Given the description of an element on the screen output the (x, y) to click on. 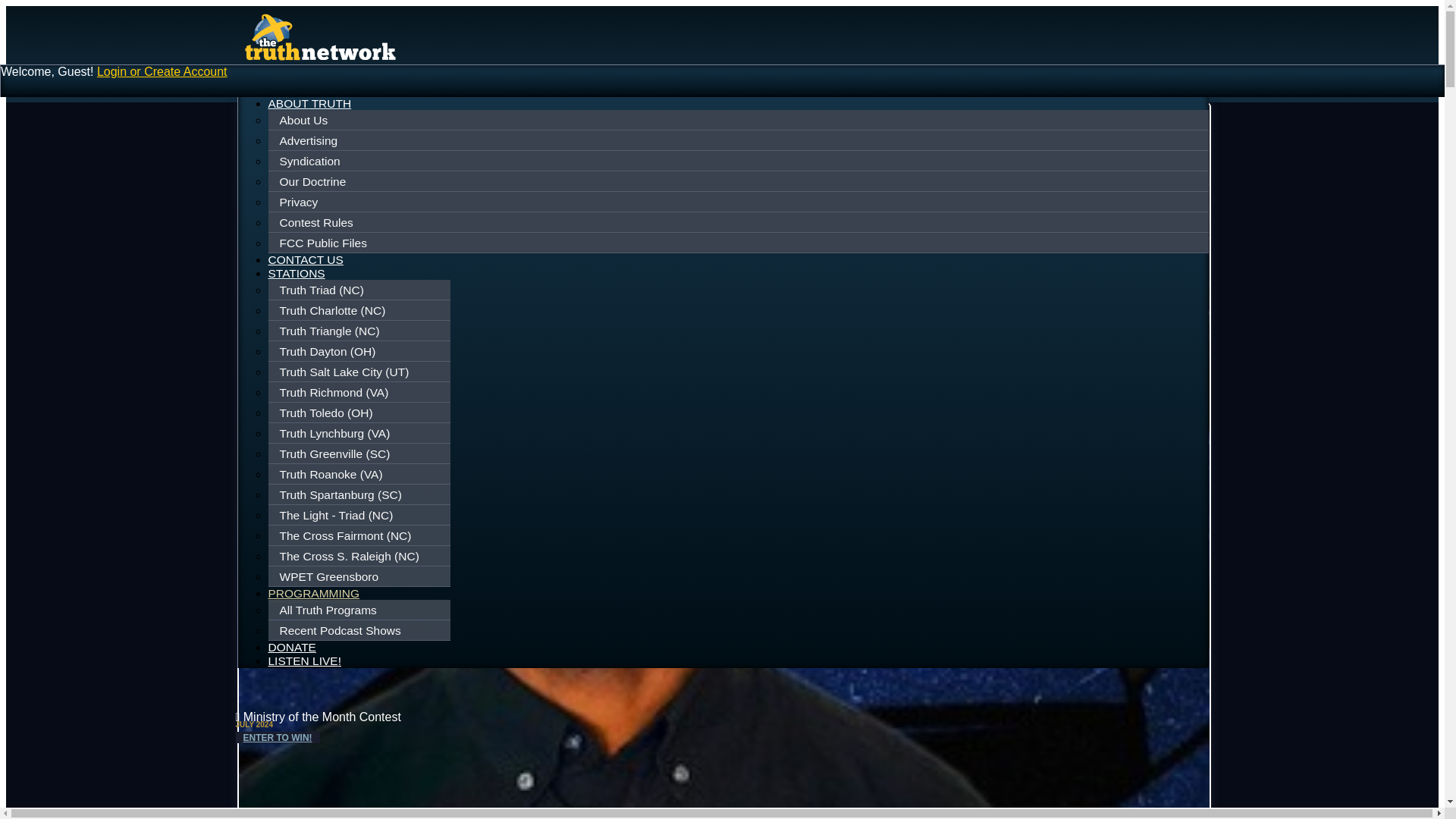
Privacy (739, 202)
Syndication (739, 161)
Contest Rules (739, 222)
HOME (285, 89)
PROGRAMMING (313, 594)
About Us (739, 120)
FCC Public Files (739, 243)
Advertising (739, 140)
ABOUT TRUTH (309, 103)
CONTACT US (305, 259)
Our Doctrine (739, 181)
WPET Greensboro (360, 576)
STATIONS (295, 273)
